Given the description of an element on the screen output the (x, y) to click on. 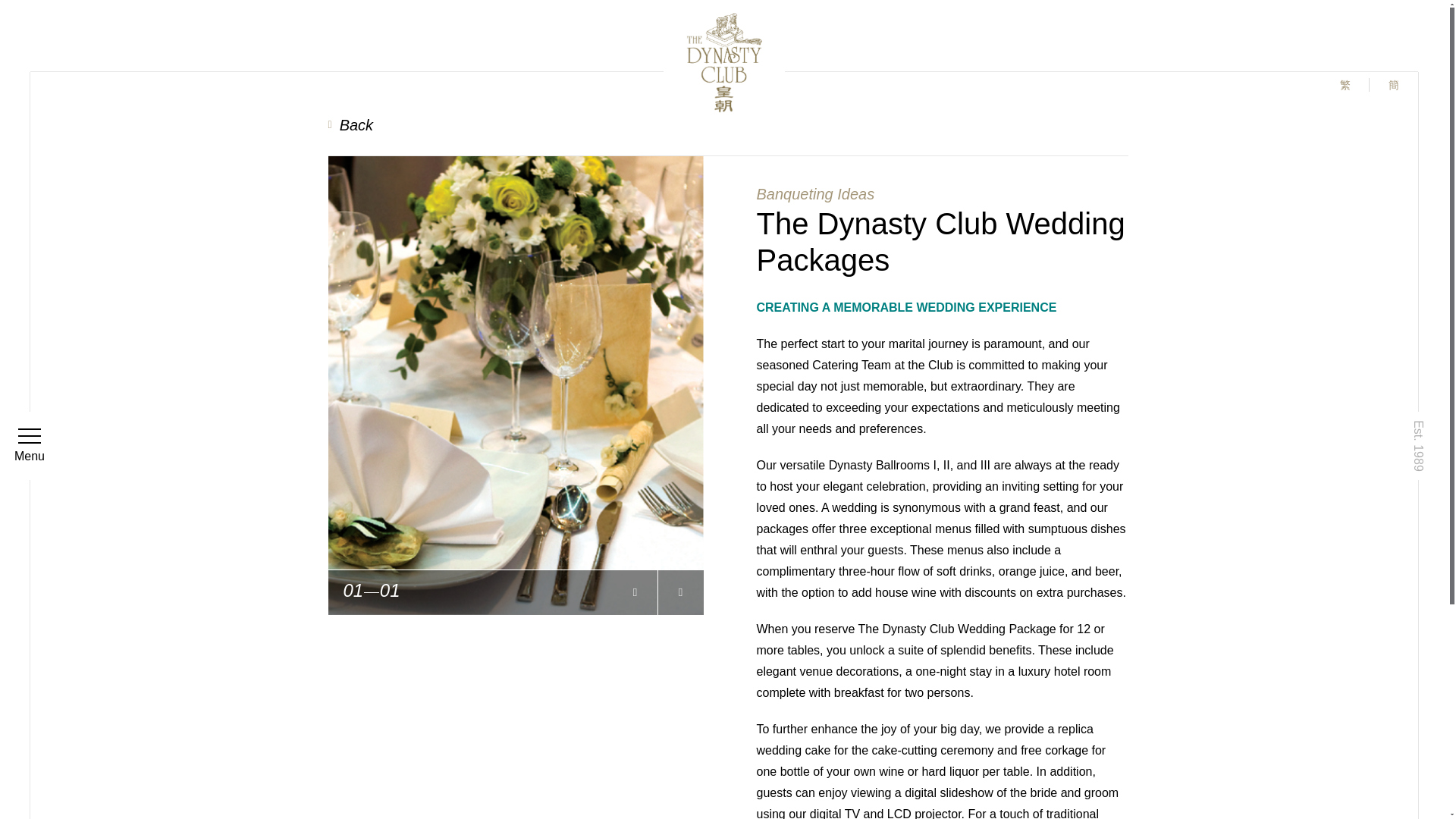
Back (357, 125)
logo (723, 62)
